Given the description of an element on the screen output the (x, y) to click on. 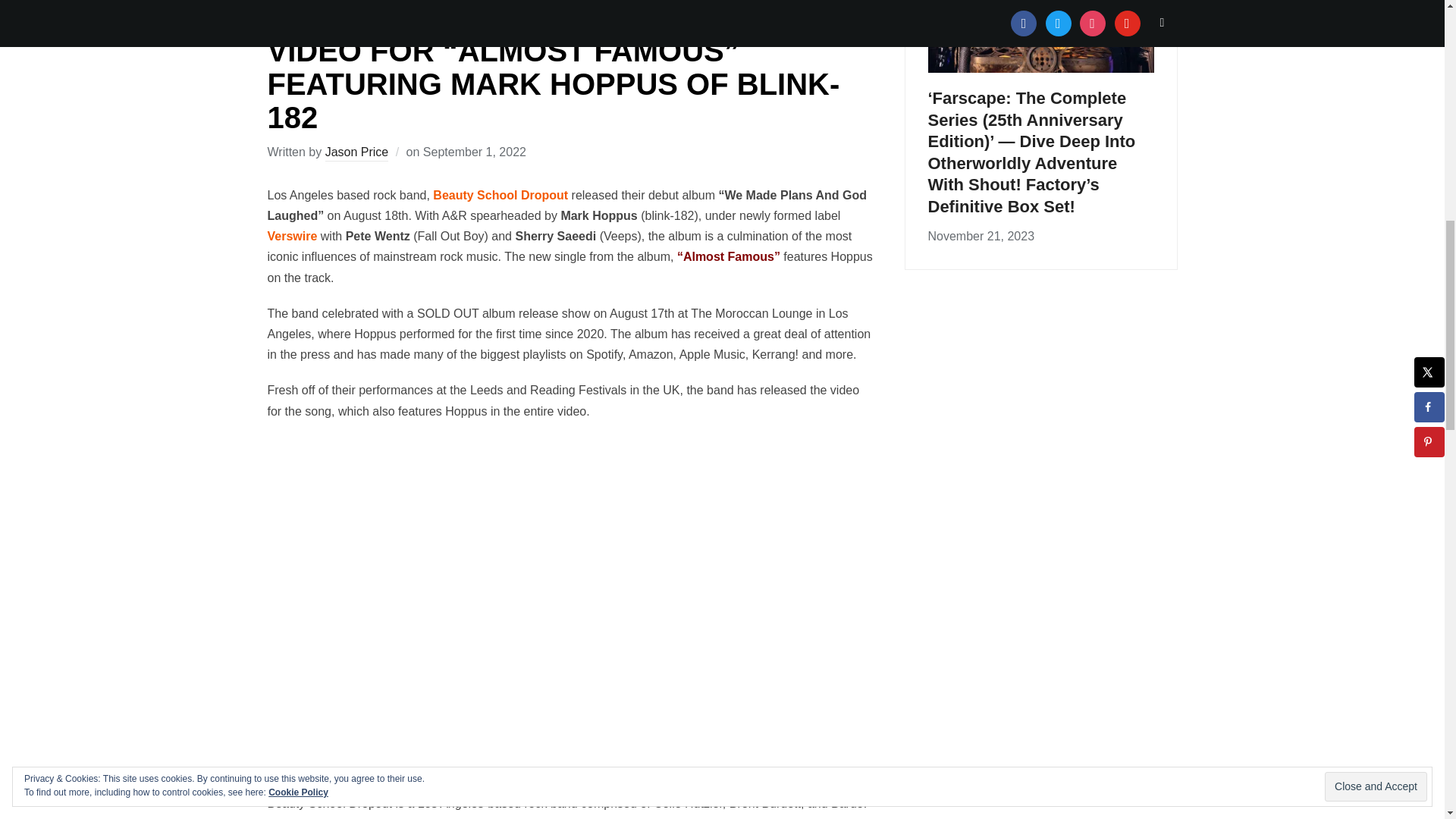
Verswire (291, 236)
Beauty School Dropout (498, 195)
Posts by Jason Price (356, 153)
Jason Price (356, 153)
